Given the description of an element on the screen output the (x, y) to click on. 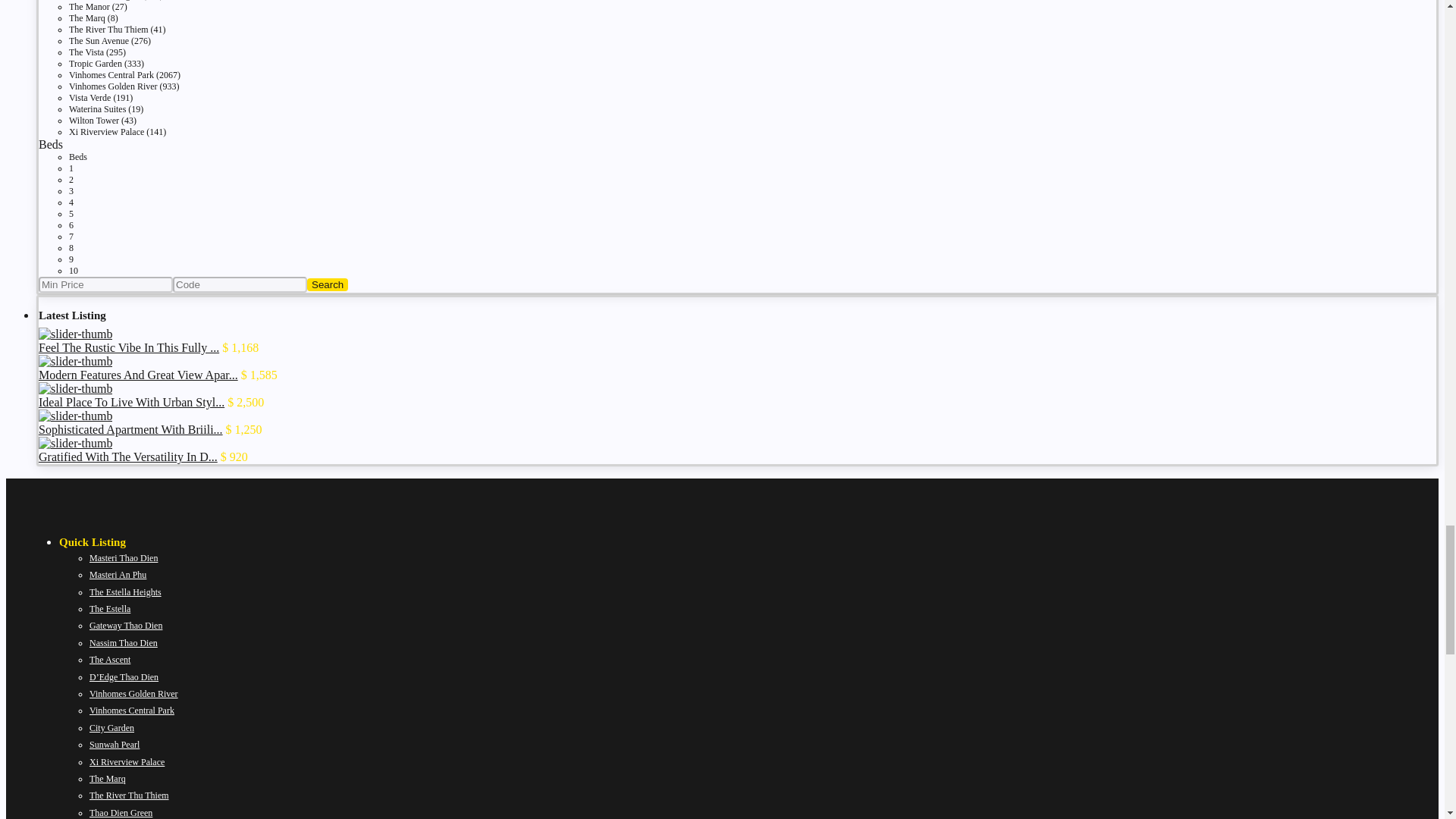
Search (327, 284)
